Given the description of an element on the screen output the (x, y) to click on. 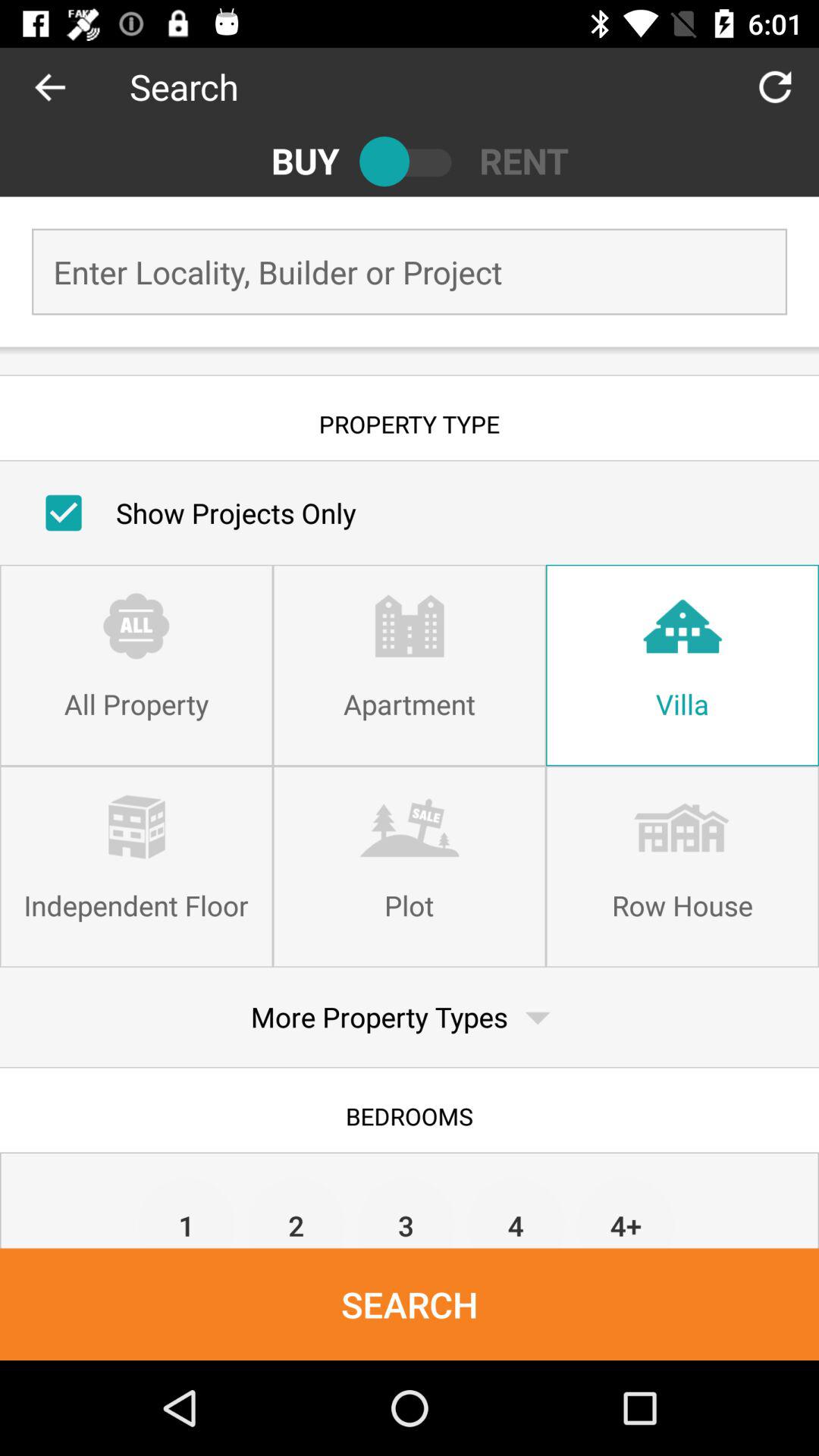
press the 3 (406, 1212)
